Given the description of an element on the screen output the (x, y) to click on. 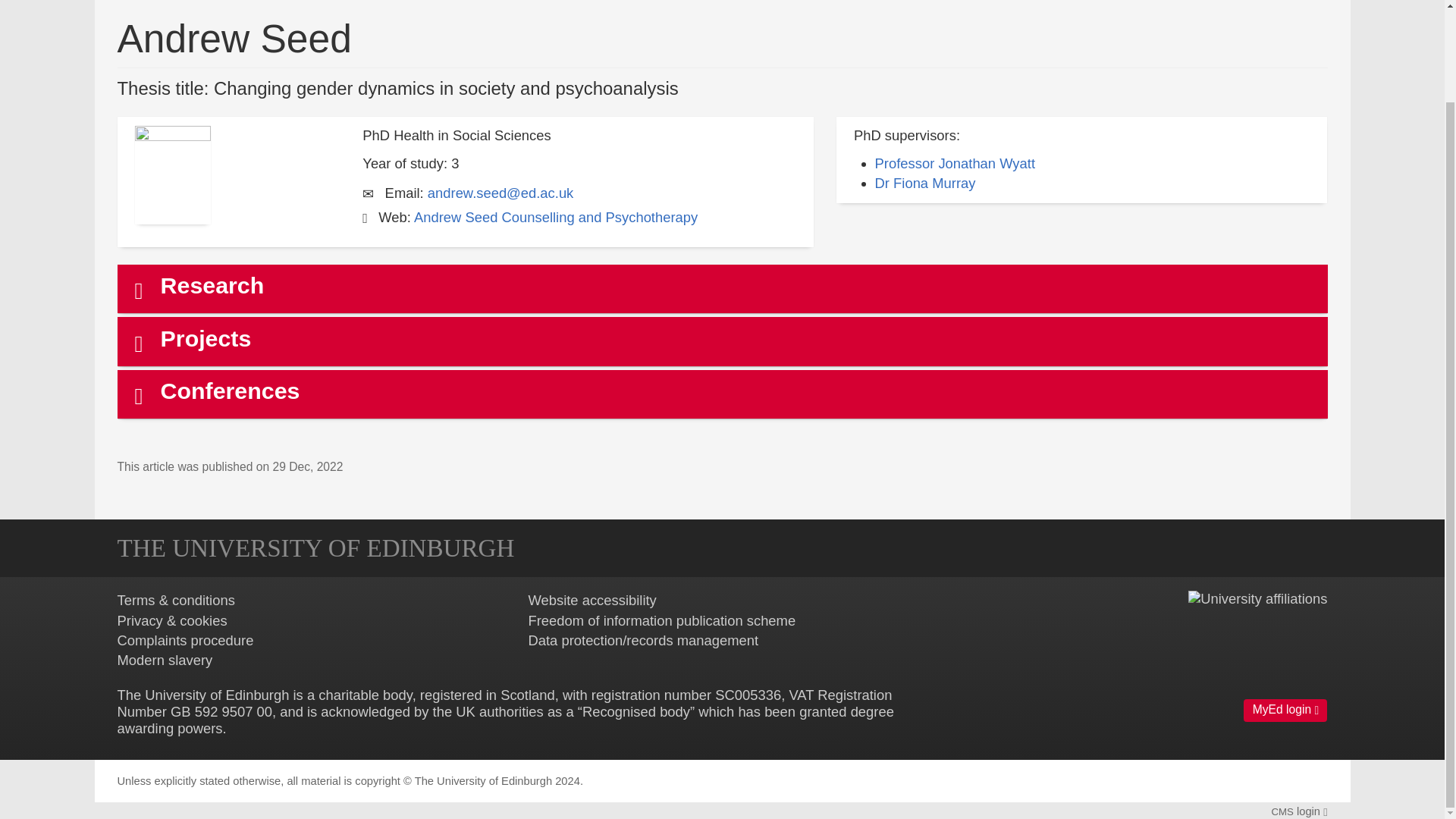
Recognised body (636, 711)
Modern slavery (164, 659)
Conferences (722, 393)
Andrew Seed Counselling and Psychotherapy (555, 217)
Research (722, 287)
Freedom of information publication scheme (660, 620)
Professor Jonathan Wyatt (955, 163)
Website accessibility (591, 600)
Projects (722, 341)
MyEd login (1284, 710)
